Given the description of an element on the screen output the (x, y) to click on. 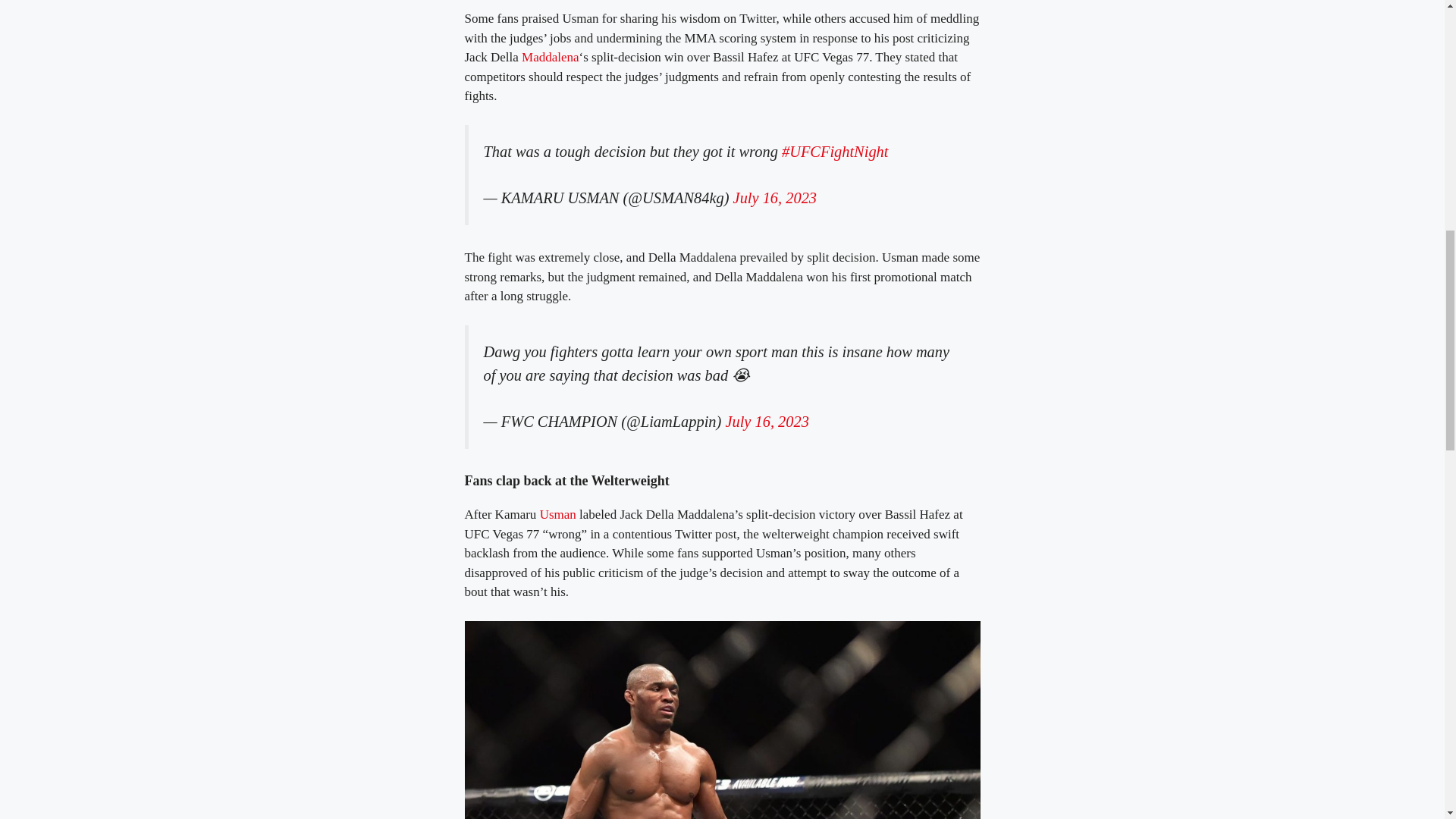
Maddalena (550, 56)
July 16, 2023 (766, 421)
Usman (558, 513)
July 16, 2023 (774, 197)
